Given the description of an element on the screen output the (x, y) to click on. 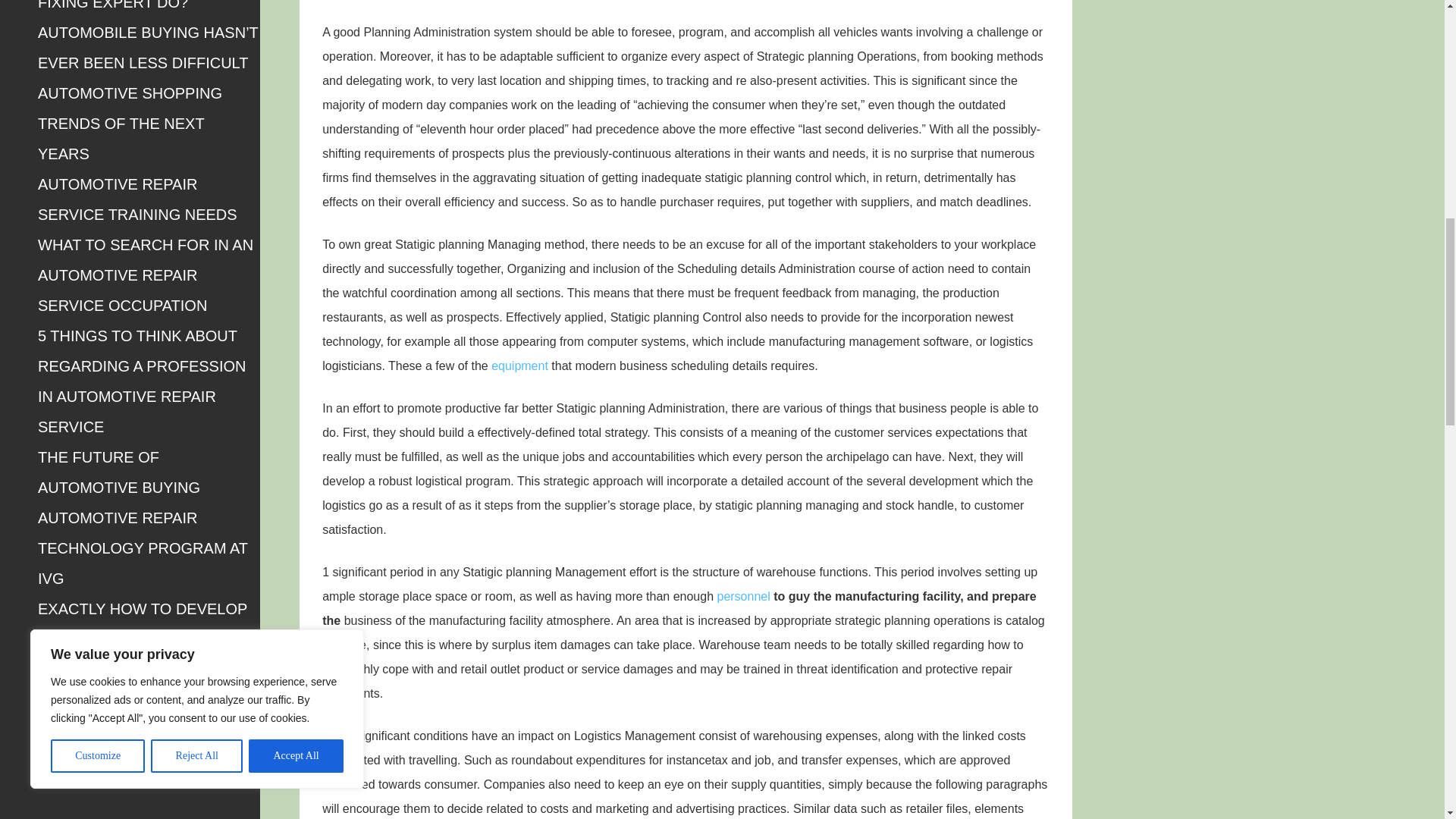
personnel (743, 595)
equipment (520, 365)
